Given the description of an element on the screen output the (x, y) to click on. 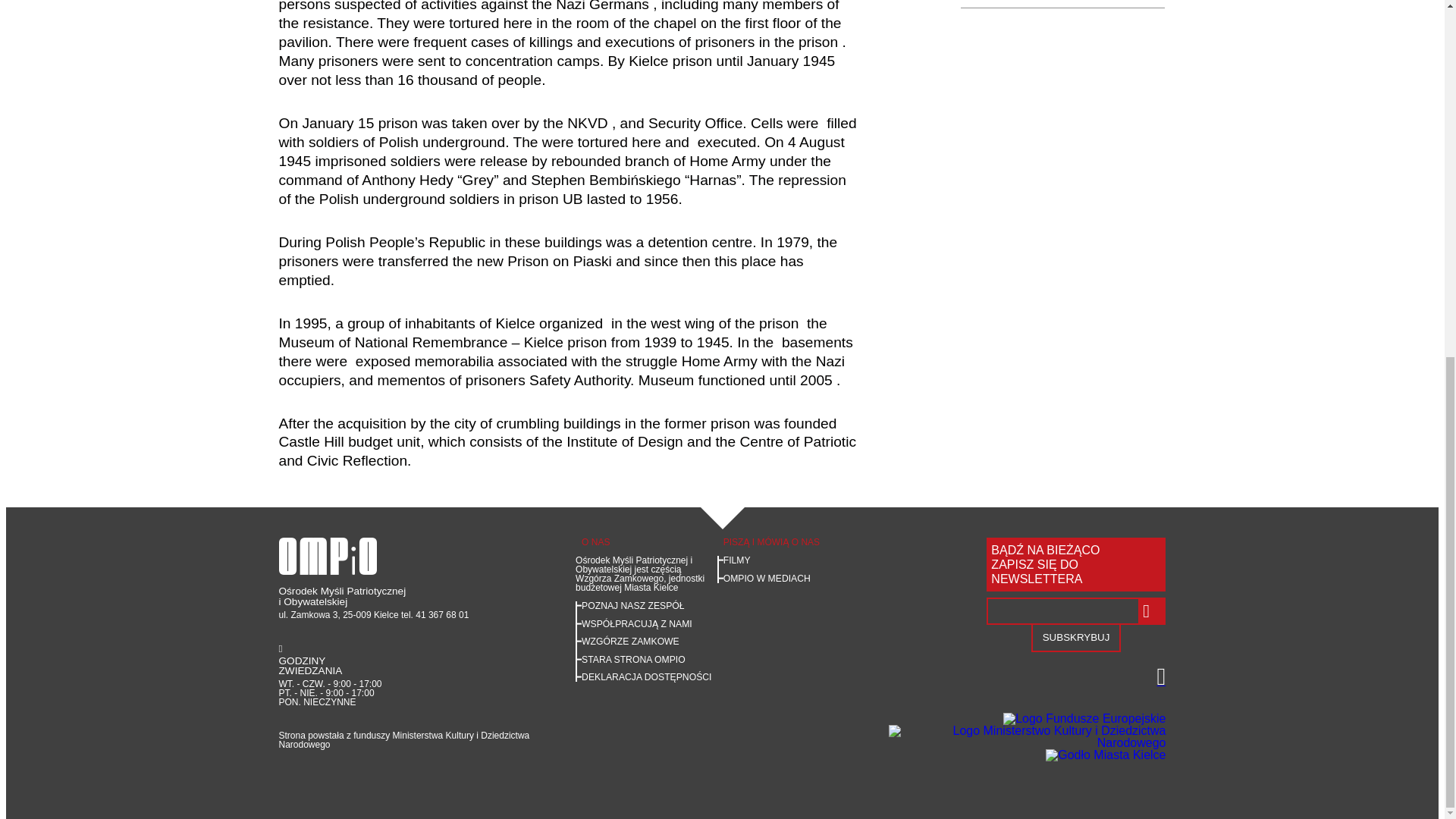
Subskrybuj (1075, 637)
STARA STRONA OMPIO (632, 659)
OMPIO W MEDIACH (766, 578)
Subskrybuj (1075, 637)
FILMY (737, 560)
